Given the description of an element on the screen output the (x, y) to click on. 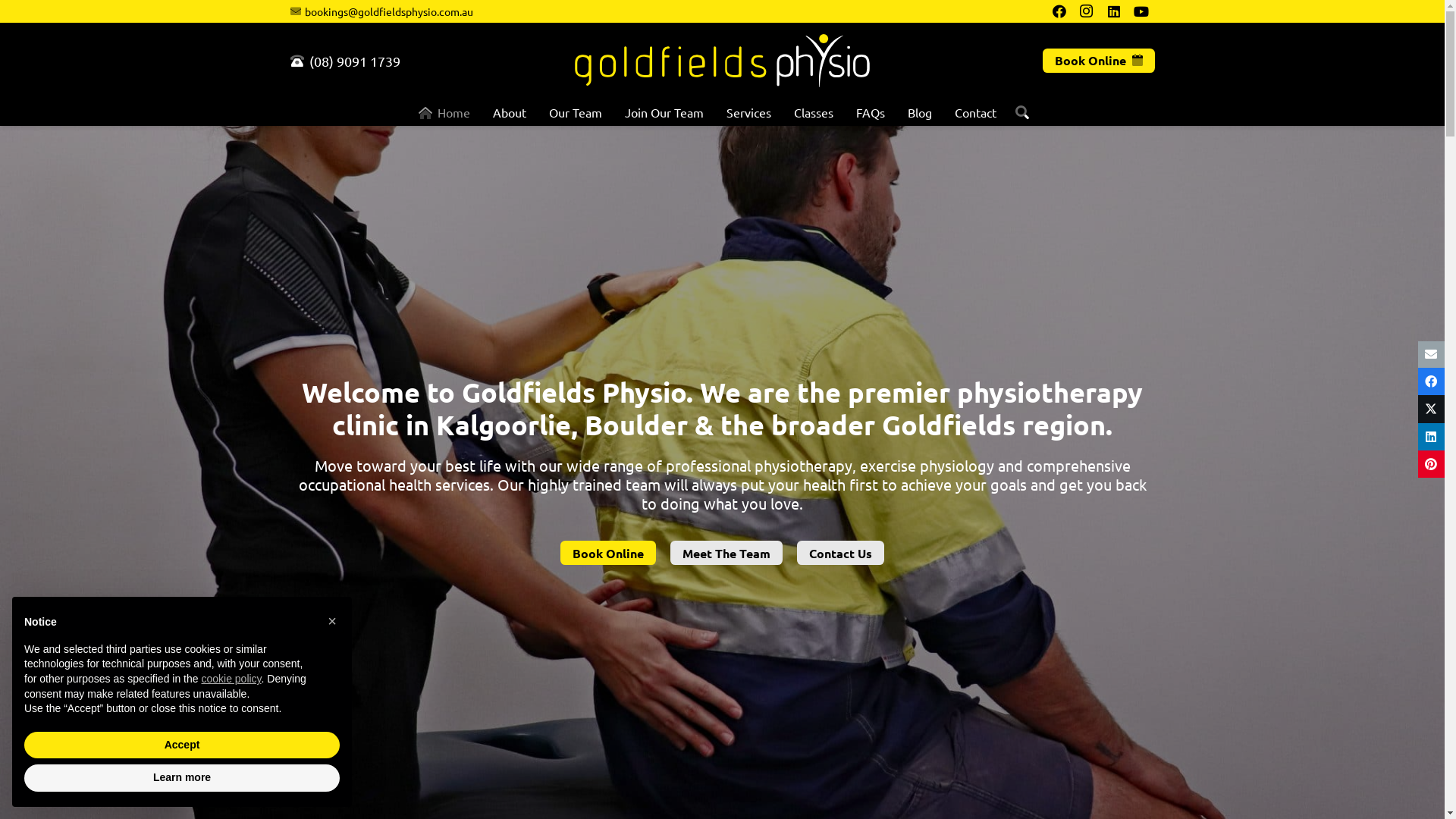
cookie policy Element type: text (230, 678)
FAQs Element type: text (870, 112)
(08) 9091 1739 Element type: text (344, 61)
Newcastle Creative Co. Element type: text (867, 774)
Contact Us Element type: text (840, 552)
Email Us Element type: text (770, 668)
Home Element type: text (444, 112)
Services Element type: text (748, 112)
Facebook Element type: hover (753, 705)
Pin this Element type: hover (1431, 463)
Book Online Element type: text (1097, 60)
Book Online Now Element type: text (492, 698)
Accept Element type: text (181, 745)
bookings@goldfieldsphysio.com.au Element type: text (381, 11)
Learn more Element type: text (181, 777)
Privacy Policy Element type: text (642, 800)
Book Online Element type: text (607, 552)
Our Team Element type: text (575, 112)
Cookie Policy Element type: text (709, 800)
Meet The Team Element type: text (726, 552)
Share this Element type: hover (1431, 381)
Classes Element type: text (813, 112)
Join Our Team Element type: text (664, 112)
About Element type: text (509, 112)
Instagram Element type: hover (772, 706)
Tweet this Element type: hover (1431, 408)
Terms & Conditions Element type: text (788, 800)
Contact Element type: text (975, 112)
LinkedIn Element type: hover (791, 705)
Share this Element type: hover (1431, 436)
Blog Element type: text (919, 112)
Email this Element type: hover (1431, 354)
YouTube Element type: hover (810, 705)
